Given the description of an element on the screen output the (x, y) to click on. 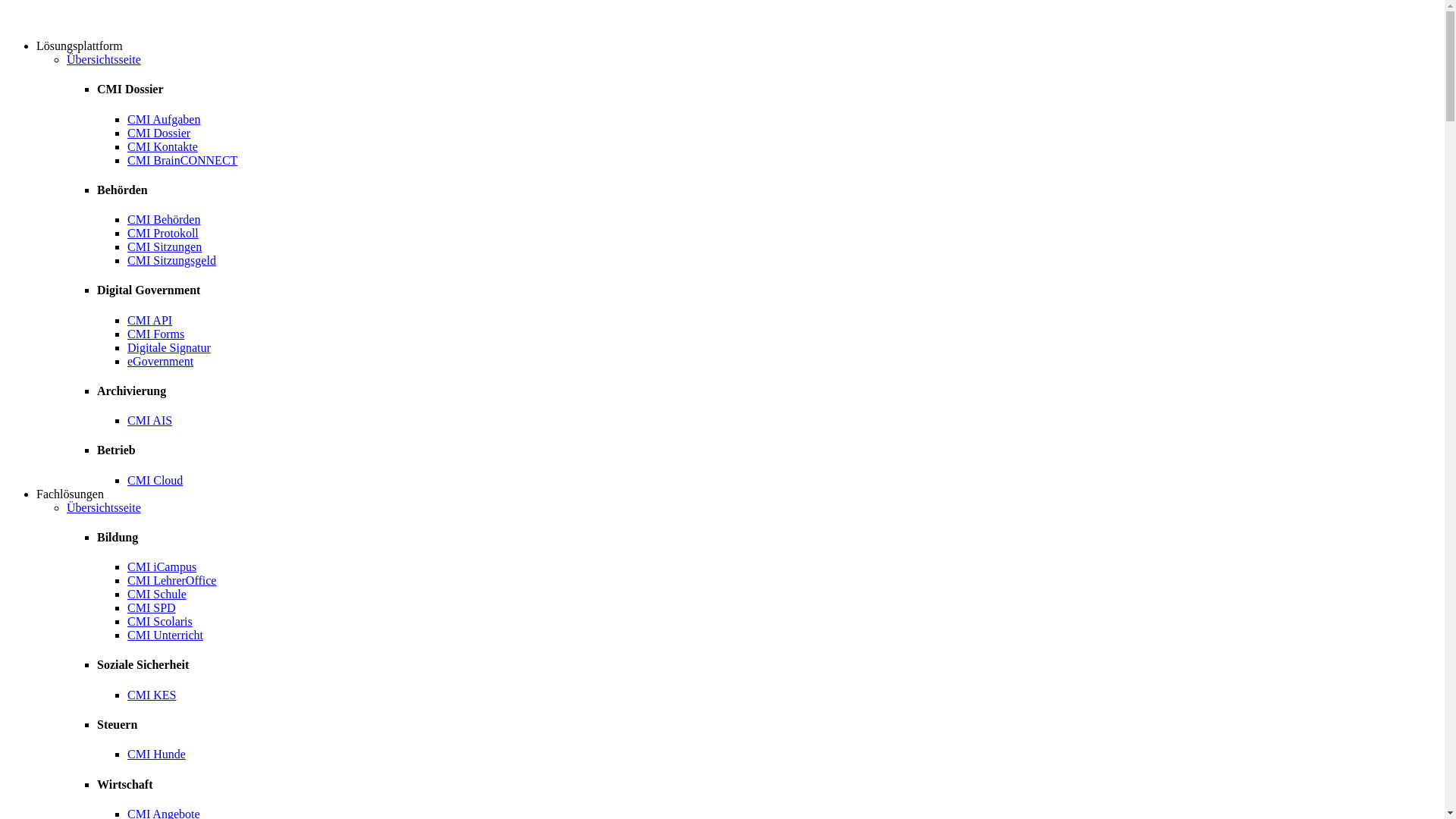
eGovernment Element type: text (160, 360)
CMI Kontakte Element type: text (162, 146)
CMI SPD Element type: text (151, 607)
CMI Forms Element type: text (155, 333)
CMI Schule Element type: text (156, 593)
CMI Scolaris Element type: text (159, 621)
CMI Protokoll Element type: text (162, 232)
CMI BrainCONNECT Element type: text (182, 159)
CMI Cloud Element type: text (154, 479)
CMI Hunde Element type: text (156, 753)
CMI Unterricht Element type: text (165, 634)
CMI Aufgaben Element type: text (163, 118)
CMI KES Element type: text (151, 694)
CMI API Element type: text (149, 319)
CMI Sitzungsgeld Element type: text (171, 260)
Digitale Signatur Element type: text (168, 347)
CMI iCampus Element type: text (161, 566)
CMI Dossier Element type: text (158, 132)
CMI AIS Element type: text (149, 420)
CMI LehrerOffice Element type: text (171, 580)
CMI Sitzungen Element type: text (164, 246)
